Given the description of an element on the screen output the (x, y) to click on. 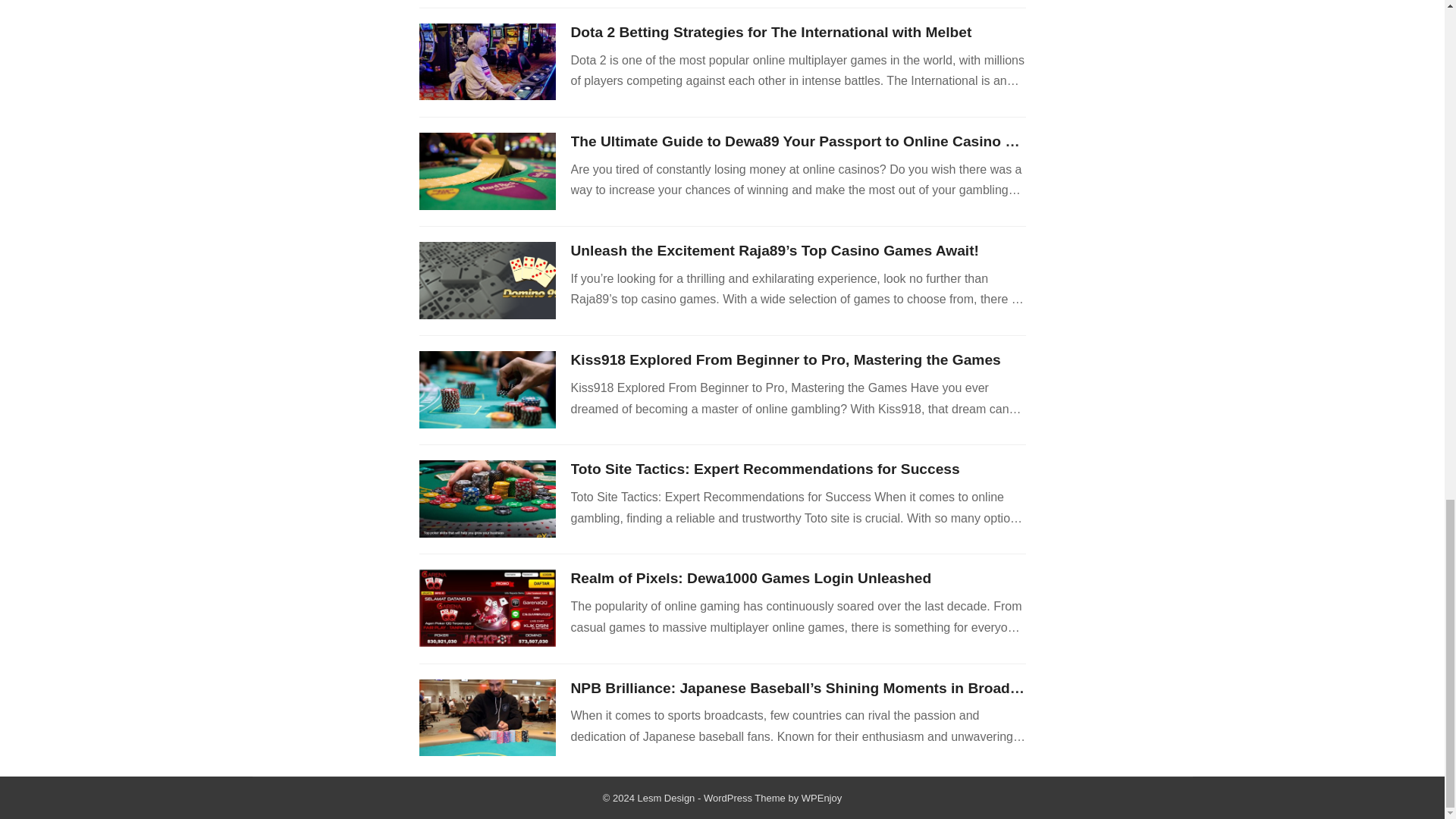
Dota 2 Betting Strategies for The International with Melbet (770, 32)
Kiss918 Explored From Beginner to Pro, Mastering the Games (785, 359)
Toto Site Tactics: Expert Recommendations for Success (764, 468)
